Given the description of an element on the screen output the (x, y) to click on. 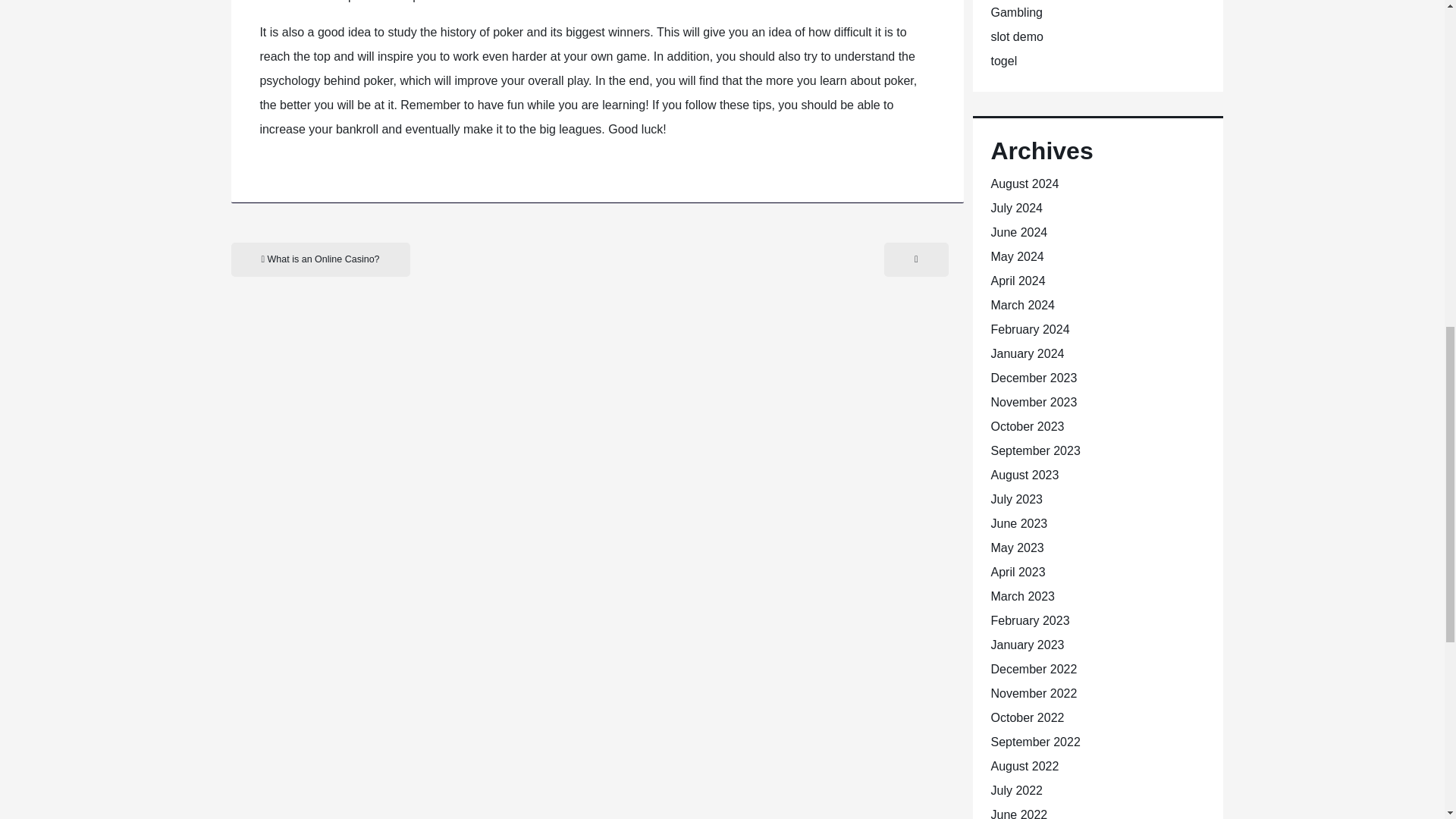
November 2023 (1033, 401)
February 2024 (1029, 328)
February 2023 (1029, 620)
November 2022 (1033, 693)
July 2023 (1016, 499)
June 2024 (1018, 232)
January 2023 (1027, 644)
December 2022 (1033, 668)
December 2023 (1033, 377)
October 2023 (1027, 426)
slot demo (1016, 36)
September 2023 (1035, 450)
May 2024 (1016, 256)
April 2024 (1017, 280)
May 2023 (1016, 547)
